Given the description of an element on the screen output the (x, y) to click on. 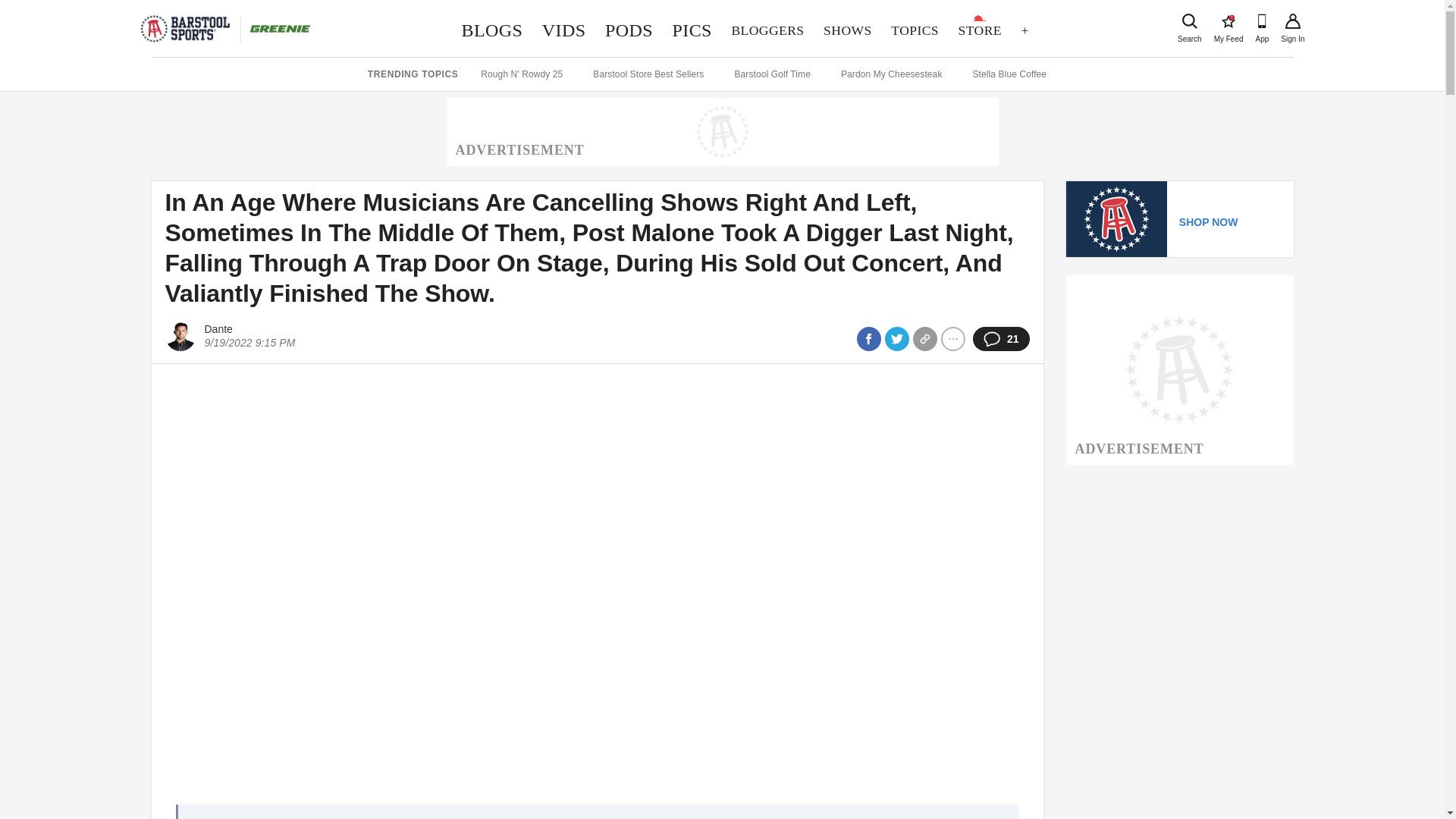
VIDS (563, 30)
BLOGS (491, 30)
PODS (628, 30)
Search (1189, 20)
Sign Up (1228, 20)
STORE (1292, 20)
TOPICS (980, 30)
PICS (913, 30)
SHOWS (692, 30)
